Given the description of an element on the screen output the (x, y) to click on. 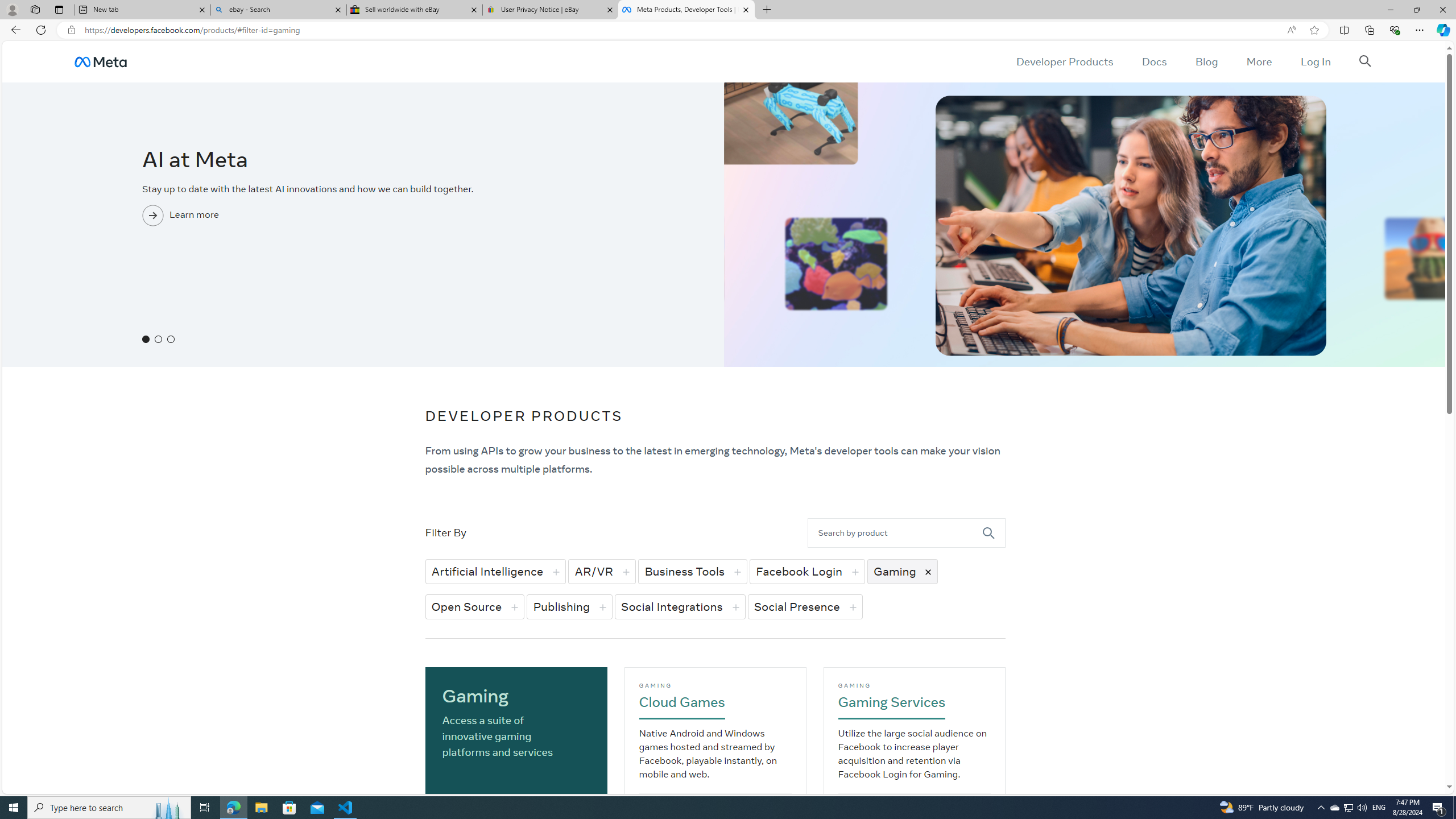
AR/VR (601, 571)
Sell worldwide with eBay (414, 9)
Artificial Intelligence (495, 571)
Blog (1205, 61)
Docs (1153, 61)
Gaming (901, 571)
Show slide 2 (158, 339)
More (1259, 61)
